Given the description of an element on the screen output the (x, y) to click on. 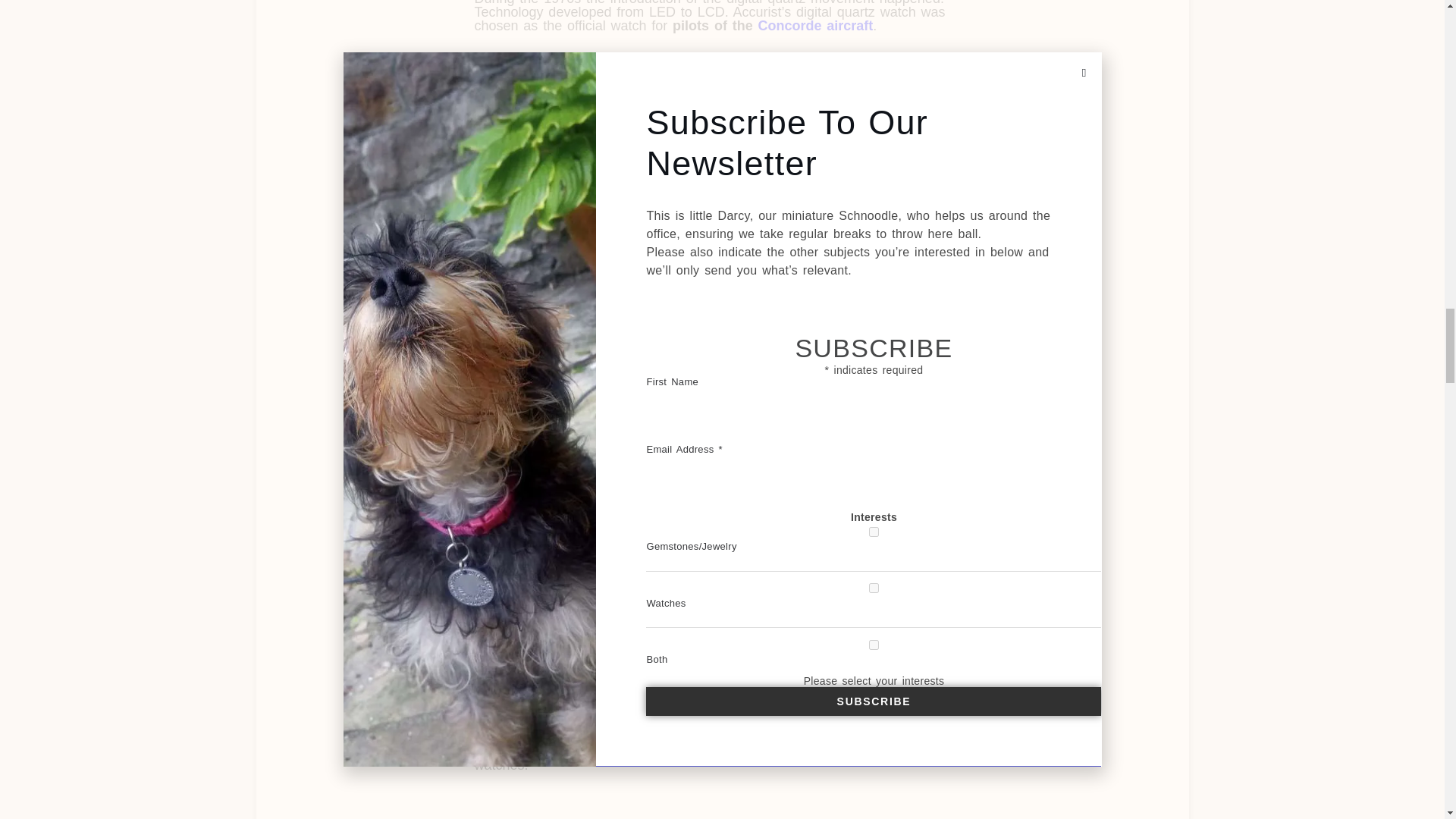
Concorde aircraft (815, 25)
